Given the description of an element on the screen output the (x, y) to click on. 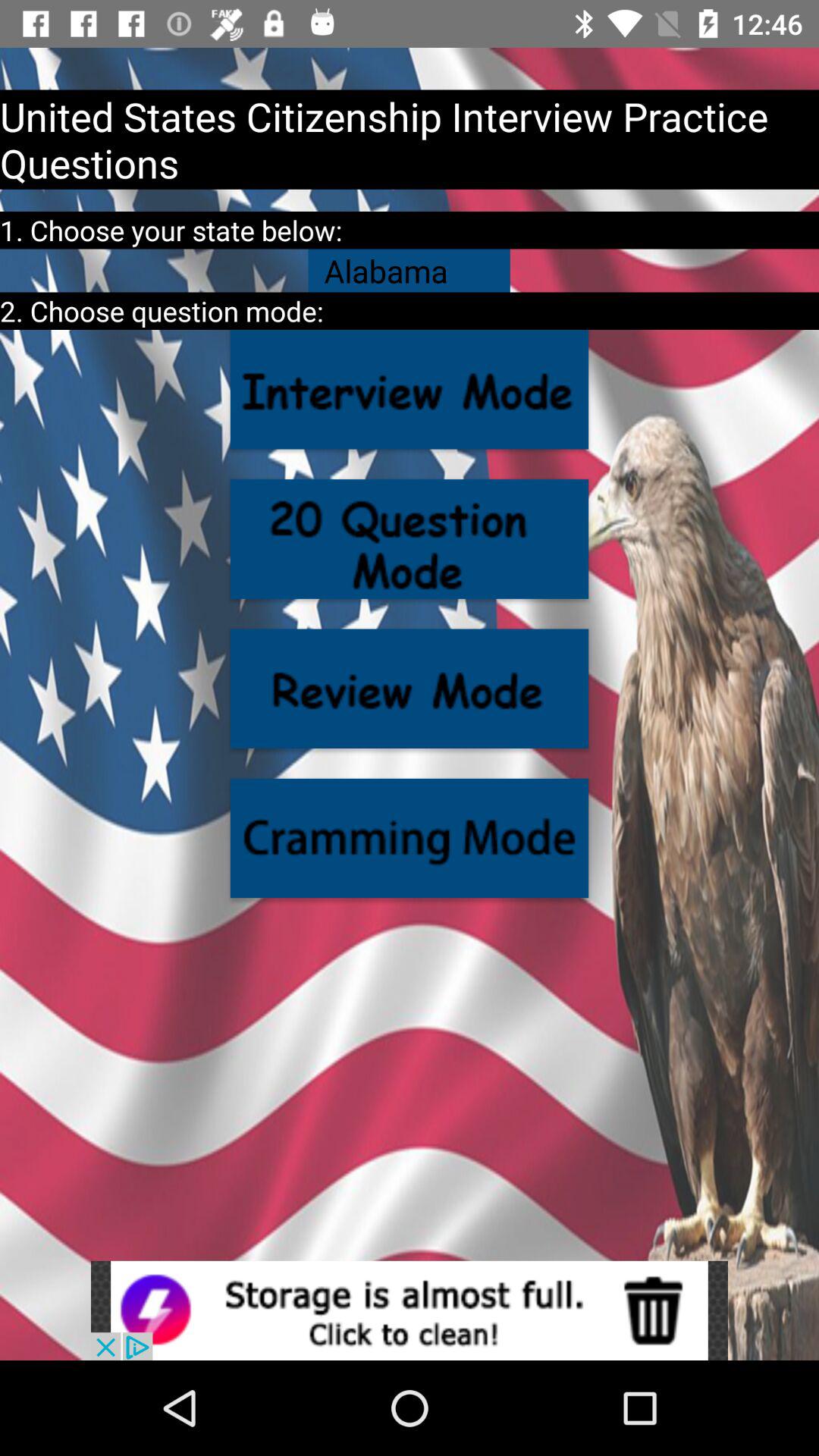
advertisement banner (409, 1310)
